Given the description of an element on the screen output the (x, y) to click on. 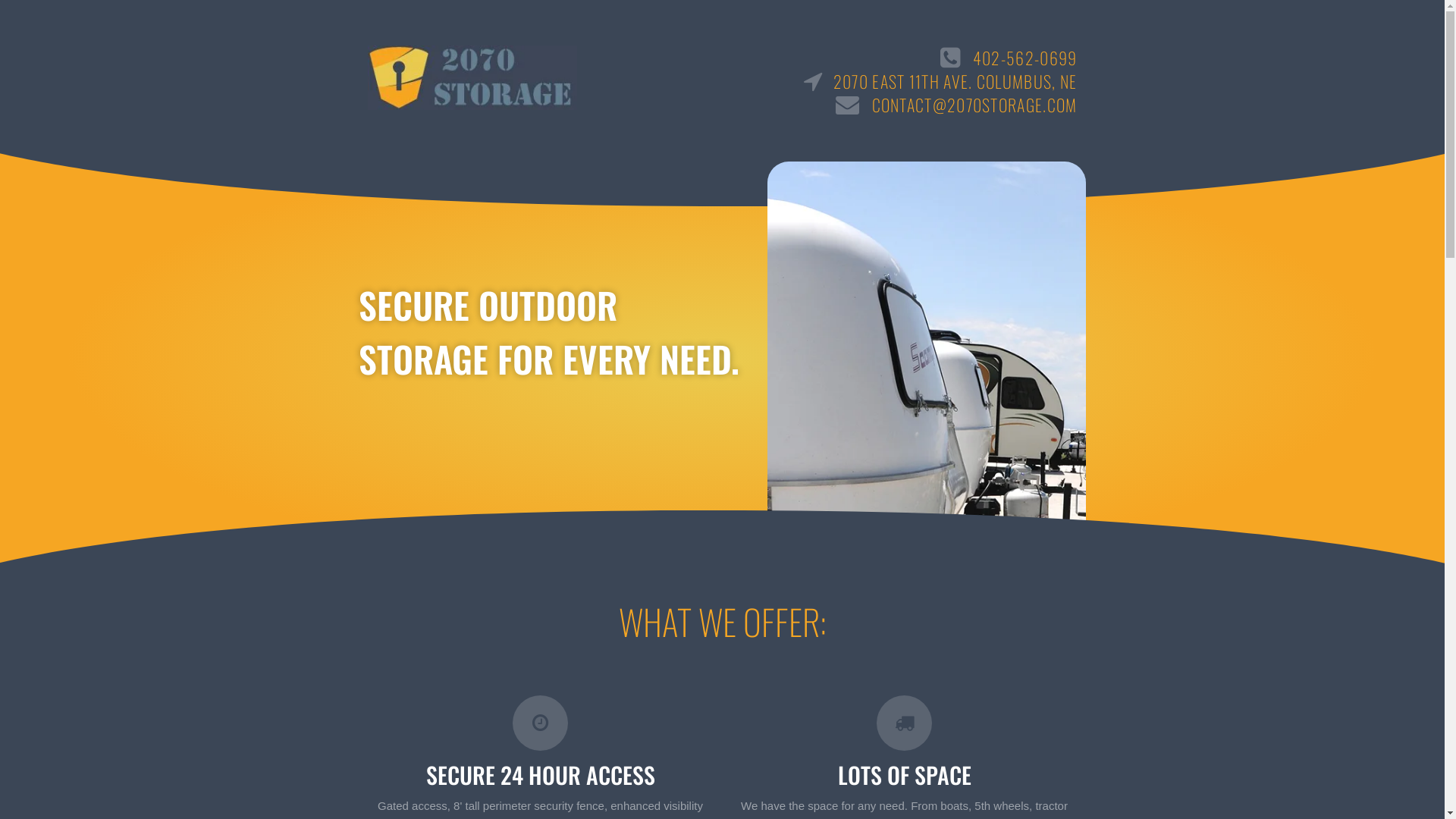
Home 1 Element type: hover (926, 358)
CONTACT@2070STORAGE.COM Element type: text (834, 104)
402-562-0699 Element type: text (834, 57)
